Given the description of an element on the screen output the (x, y) to click on. 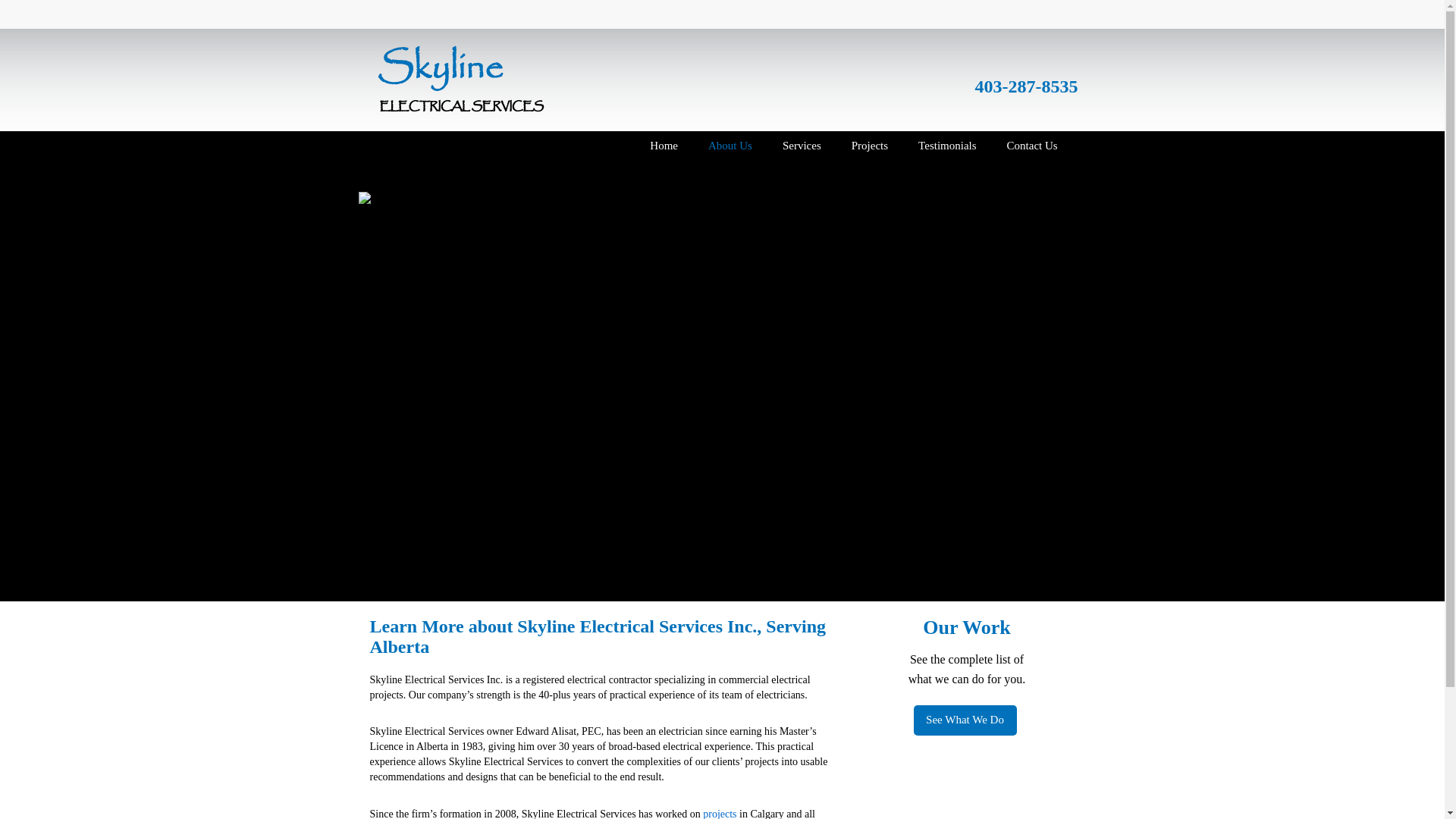
Testimonials (946, 146)
See What We Do (964, 720)
Contact Us (1032, 146)
403-287-8535 (1026, 89)
Services (801, 146)
Home (663, 146)
projects (719, 814)
About Us (730, 146)
Projects (868, 146)
